Given the description of an element on the screen output the (x, y) to click on. 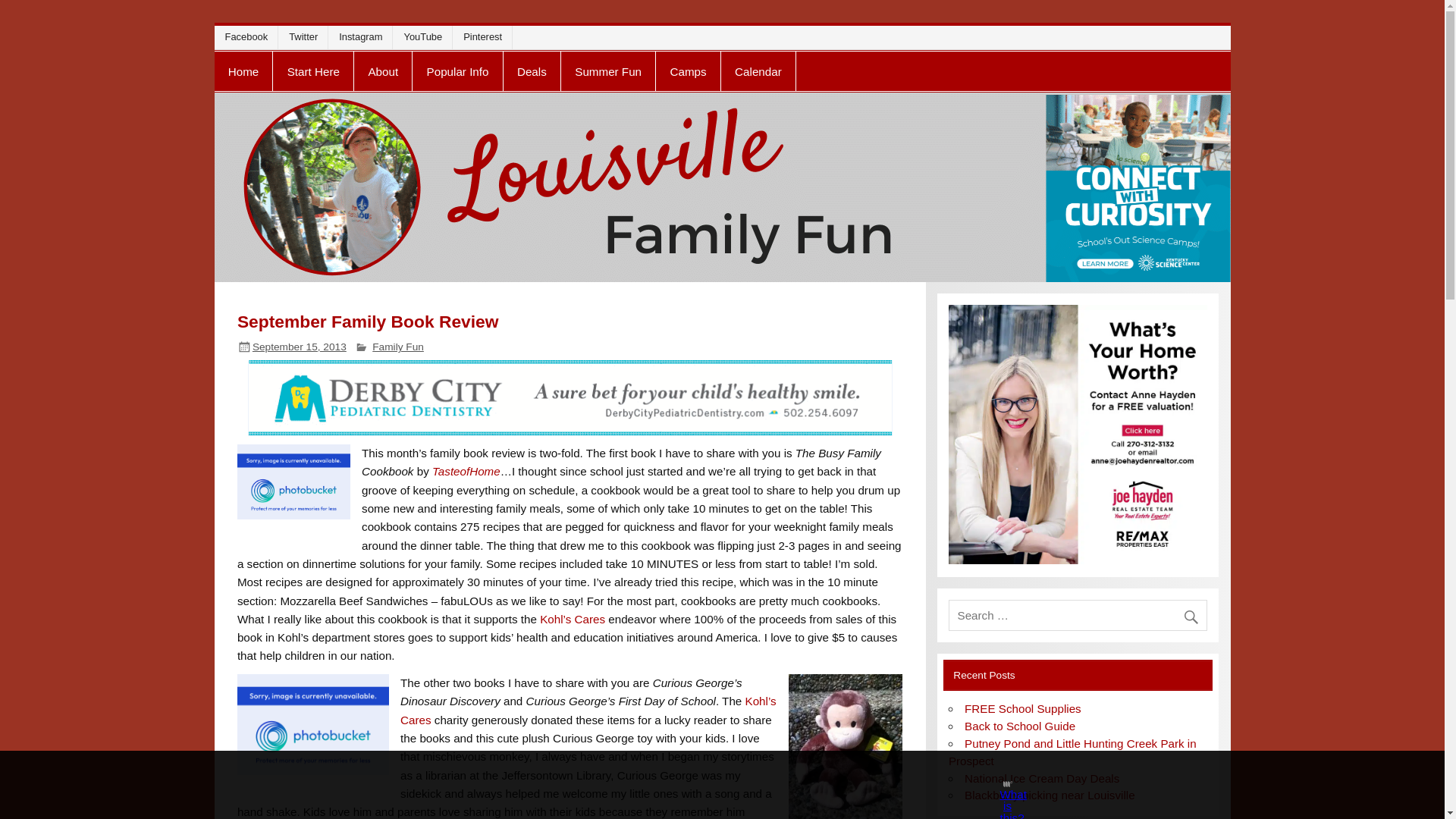
Home (243, 70)
Facebook (248, 37)
YouTube (424, 37)
Louisville Family Fun (360, 64)
Camps (688, 70)
Summer Fun (607, 70)
Deals (531, 70)
September 15, 2013 (298, 346)
Instagram (363, 37)
Twitter (305, 37)
TasteofHome (466, 471)
About (382, 70)
Calendar (757, 70)
Popular Info (457, 70)
